Given the description of an element on the screen output the (x, y) to click on. 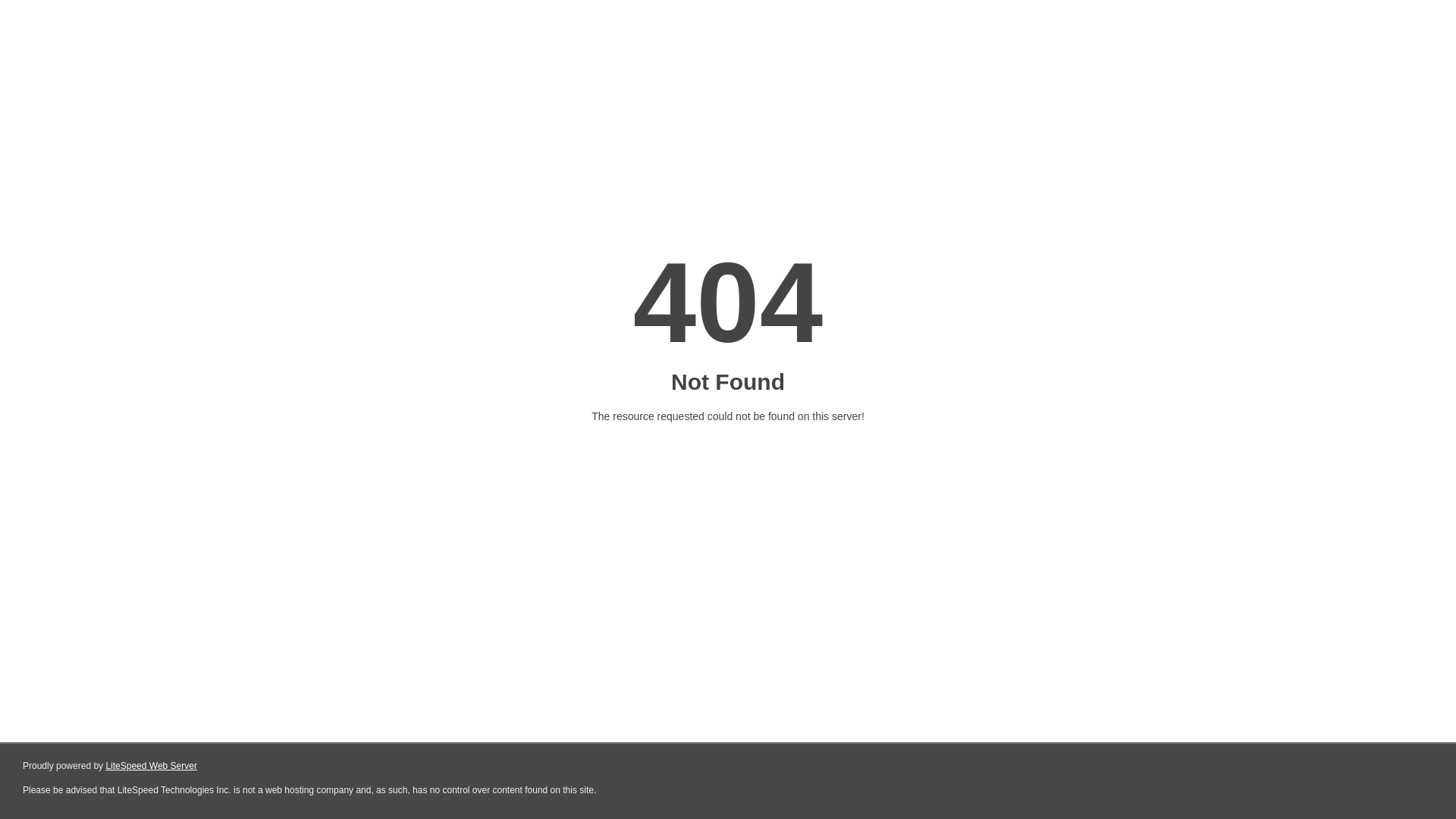
LiteSpeed Web Server Element type: text (151, 765)
